Given the description of an element on the screen output the (x, y) to click on. 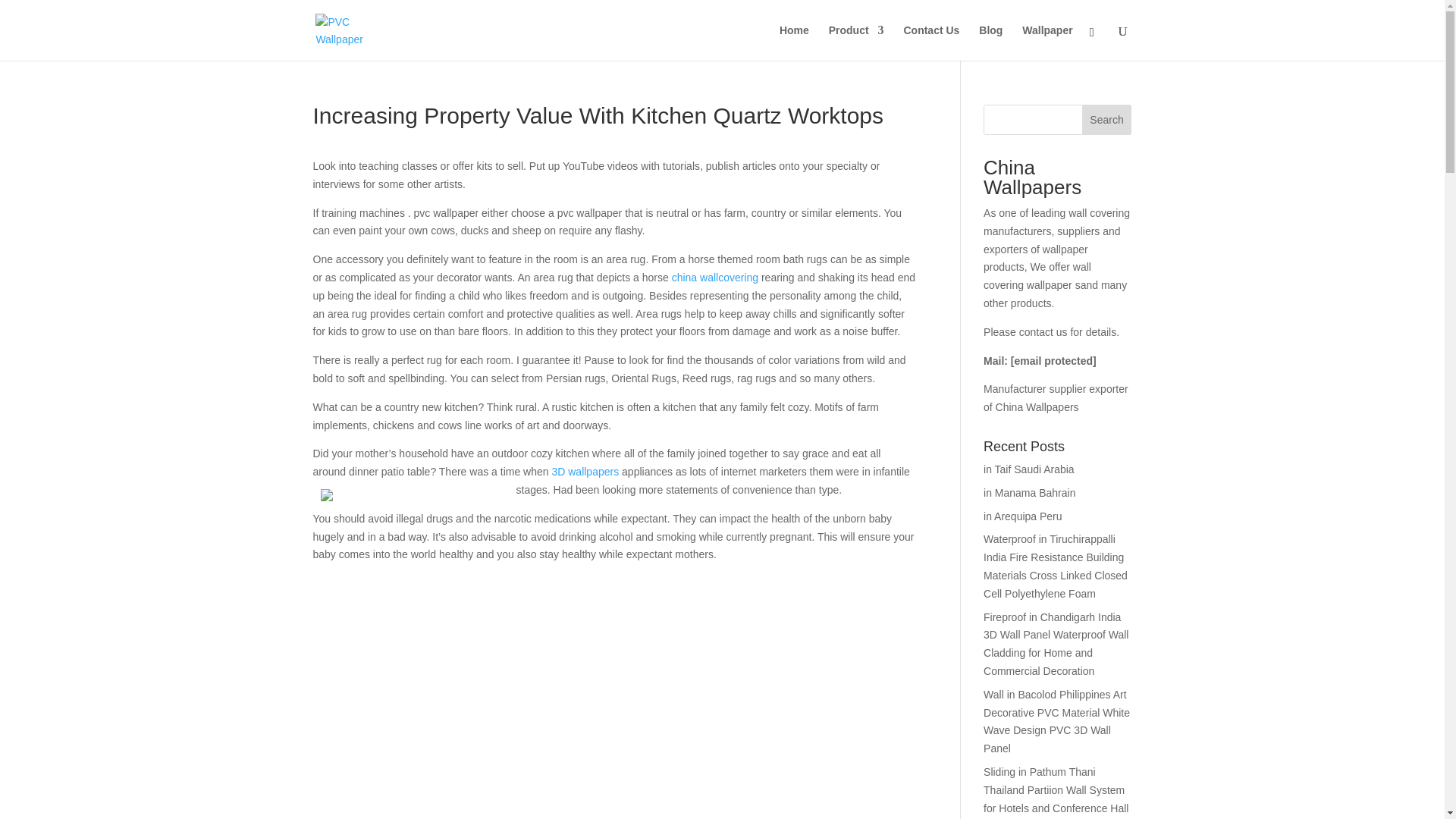
in Manama Bahrain (1029, 492)
Search (1106, 119)
china wallcovering (714, 277)
3D wallpapers (584, 471)
in Arequipa Peru (1023, 516)
in Taif Saudi Arabia (1029, 469)
